Given the description of an element on the screen output the (x, y) to click on. 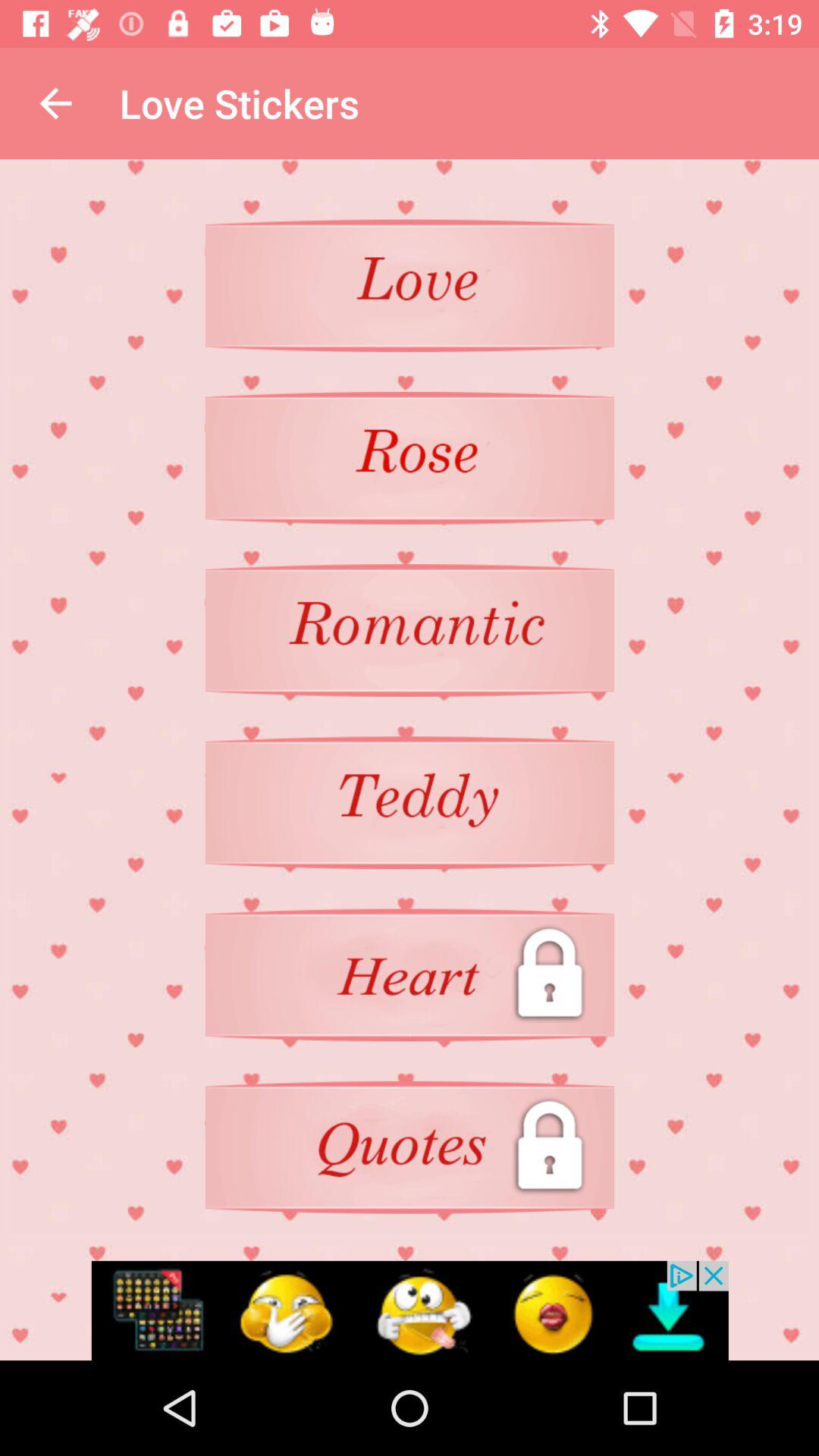
enters heart sticker (409, 802)
